Given the description of an element on the screen output the (x, y) to click on. 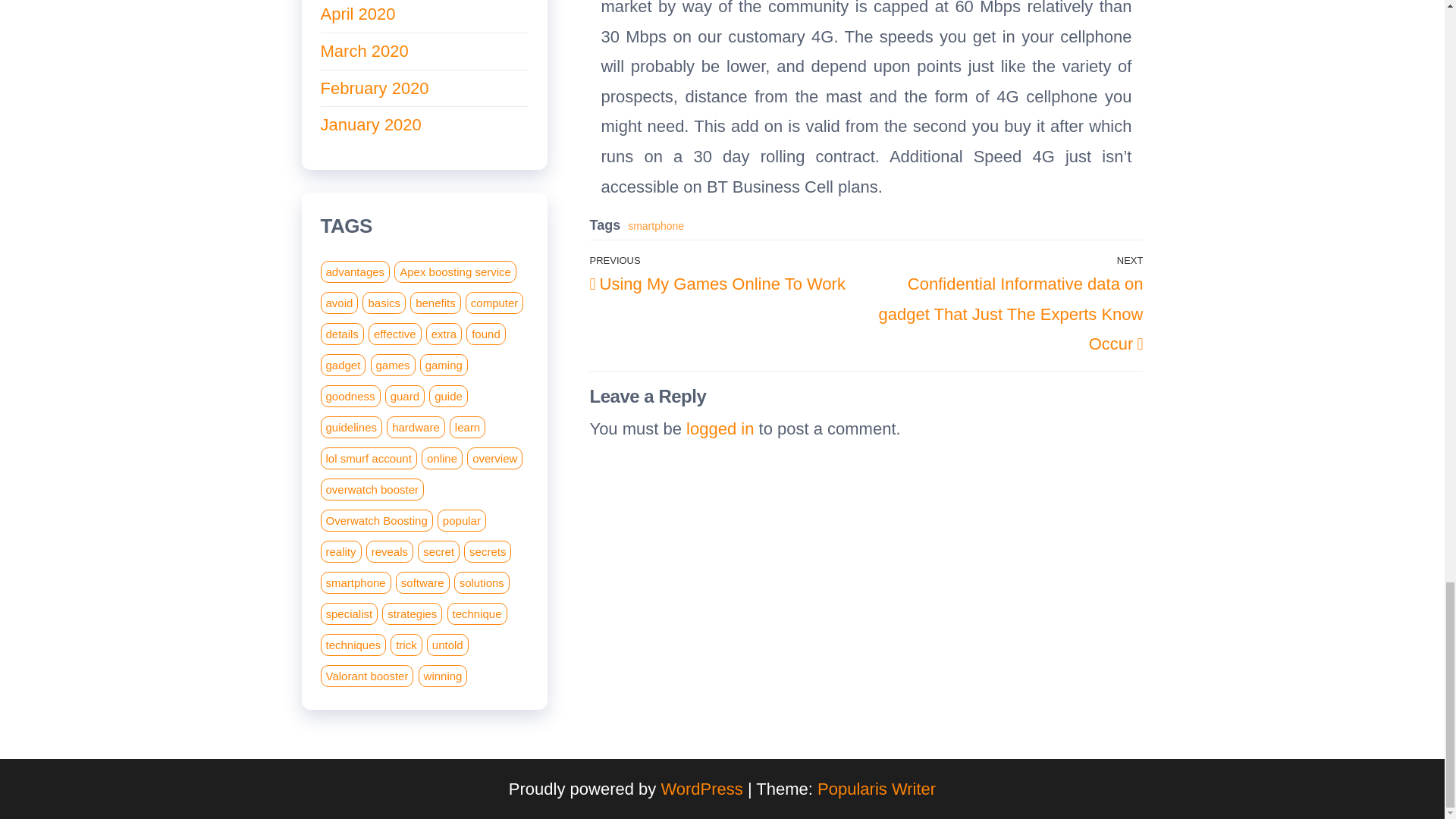
logged in (719, 428)
smartphone (727, 272)
